Given the description of an element on the screen output the (x, y) to click on. 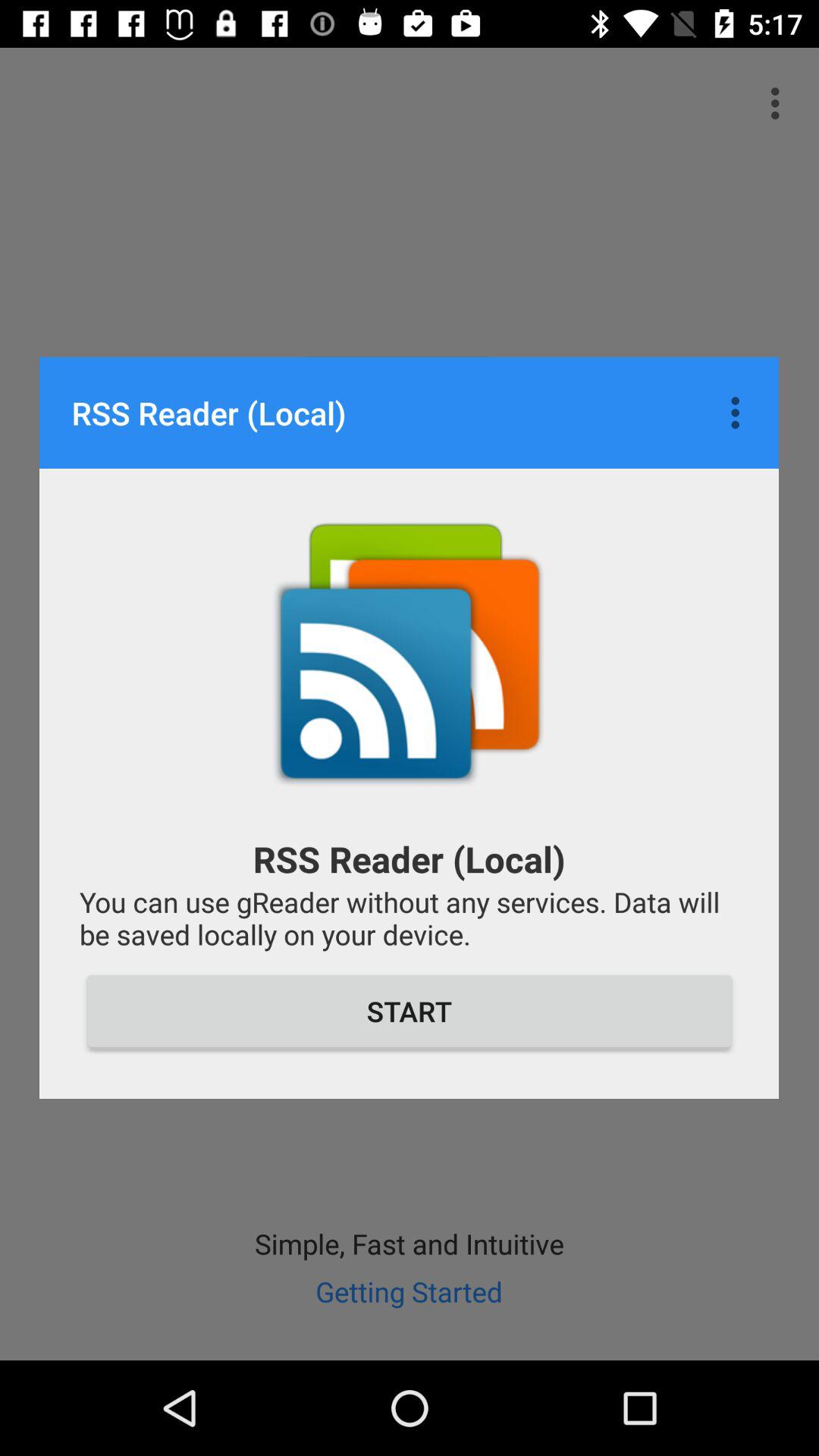
turn off the icon next to rss reader (local) item (739, 412)
